Given the description of an element on the screen output the (x, y) to click on. 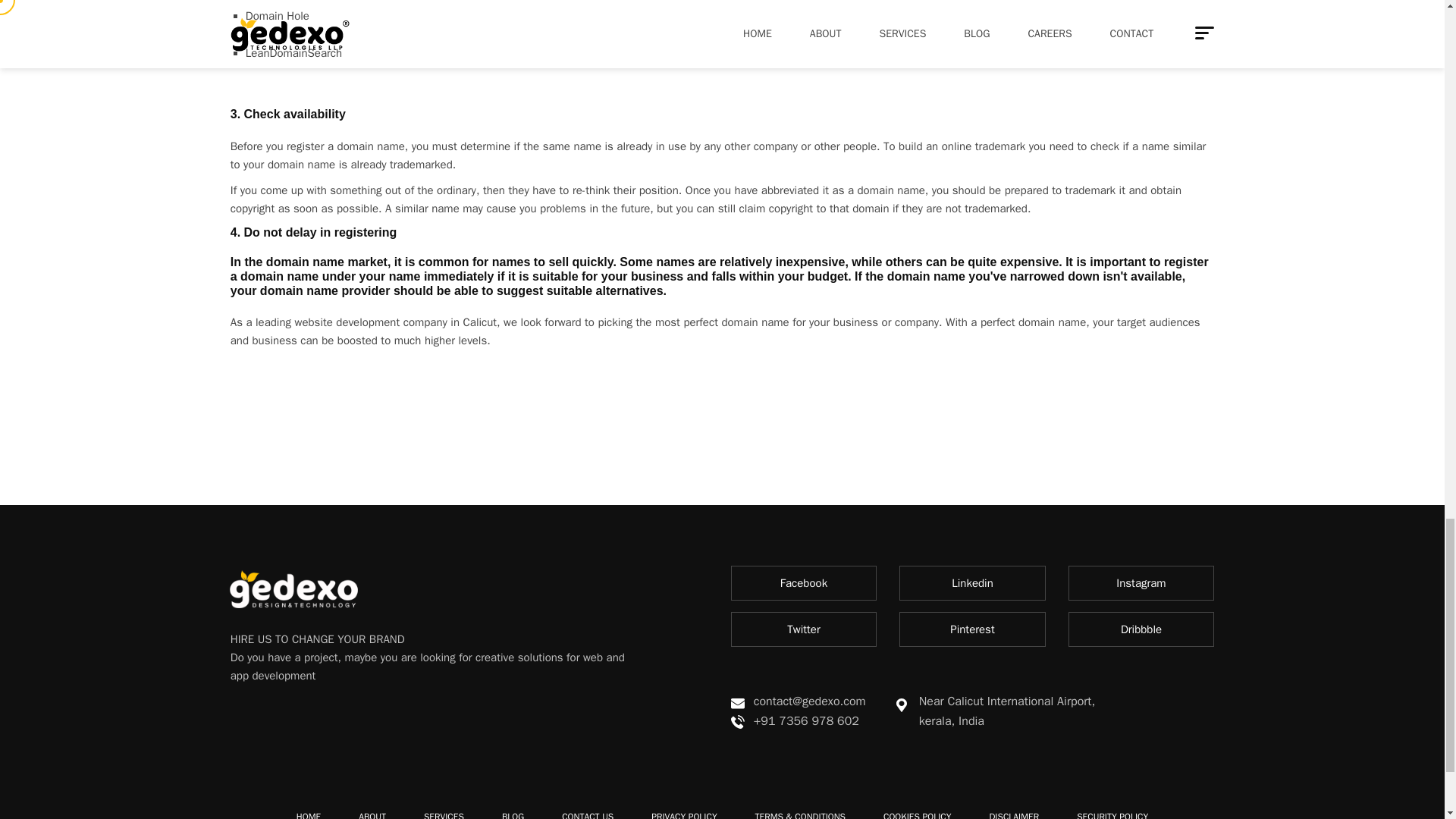
ABOUT (371, 814)
Instagram (1141, 582)
Facebook (803, 582)
SECURITY POLICY (1112, 814)
Dribbble (1141, 629)
Pinterest (972, 629)
SERVICES (443, 814)
Linkedin (972, 582)
BLOG (513, 814)
COOKIES POLICY (916, 814)
PRIVACY POLICY (683, 814)
DISCLAIMER (1013, 814)
Twitter (803, 629)
HOME (308, 814)
CONTACT US (587, 814)
